Given the description of an element on the screen output the (x, y) to click on. 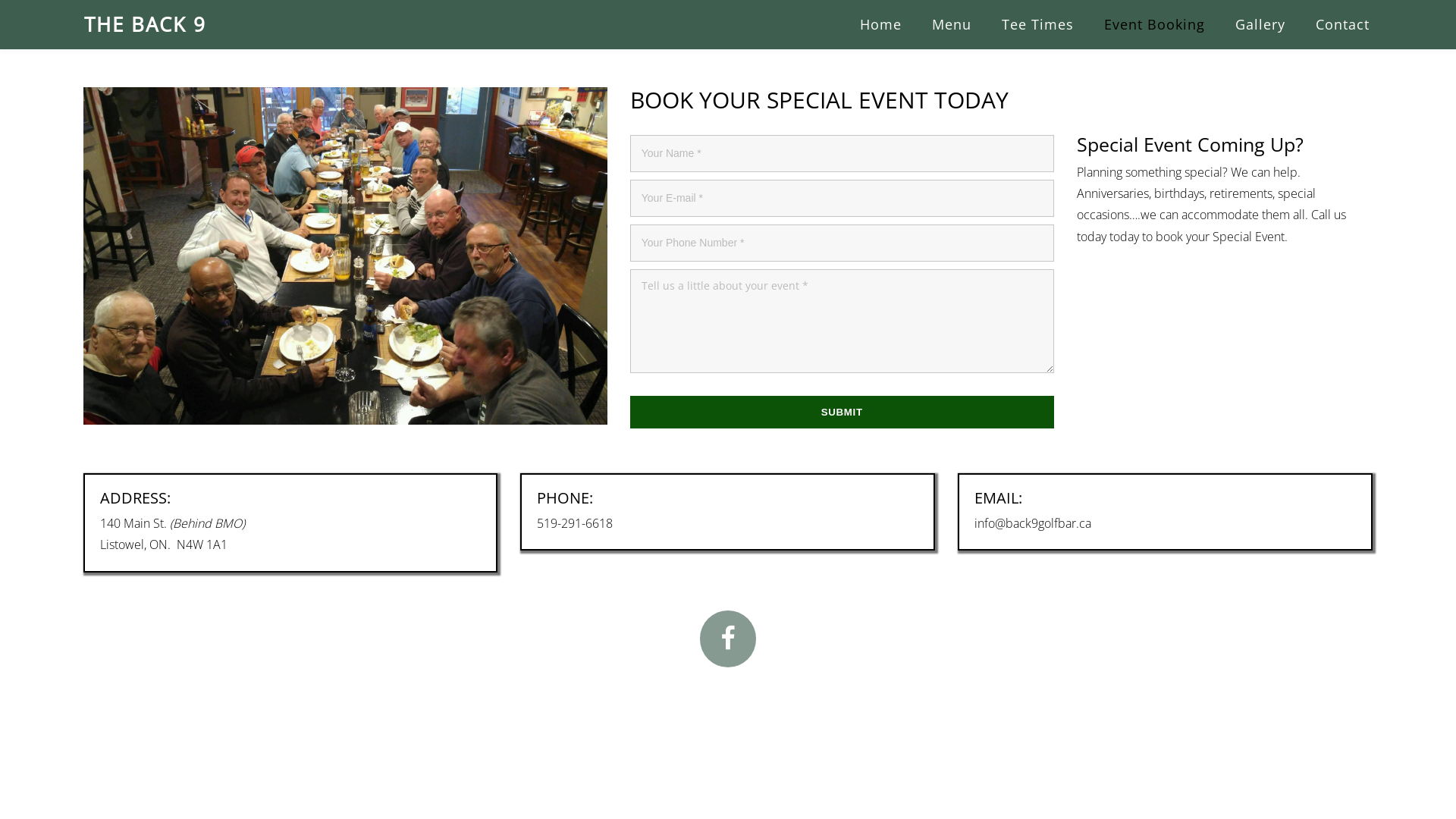
Home Element type: text (880, 24)
Gallery Element type: text (1260, 24)
Menu Element type: text (951, 24)
Submit Element type: text (842, 411)
Contact Element type: text (1342, 24)
20171018_183625 Element type: hover (345, 255)
Event Booking Element type: text (1154, 24)
THE BACK 9 Element type: text (145, 23)
Tee Times Element type: text (1037, 24)
